Given the description of an element on the screen output the (x, y) to click on. 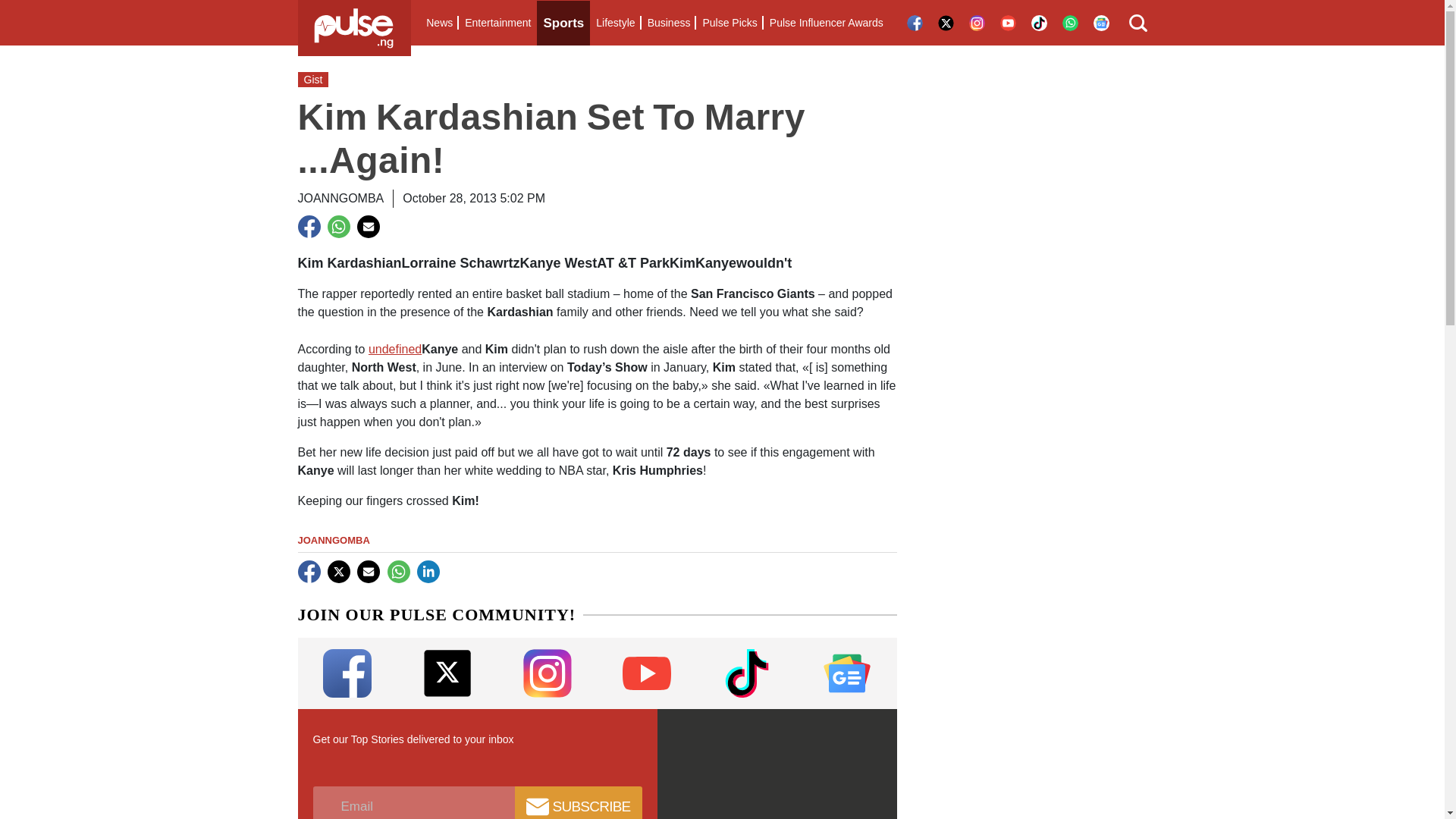
Business (669, 22)
Entertainment (497, 22)
News (439, 22)
Lifestyle (614, 22)
Sports (563, 22)
